Given the description of an element on the screen output the (x, y) to click on. 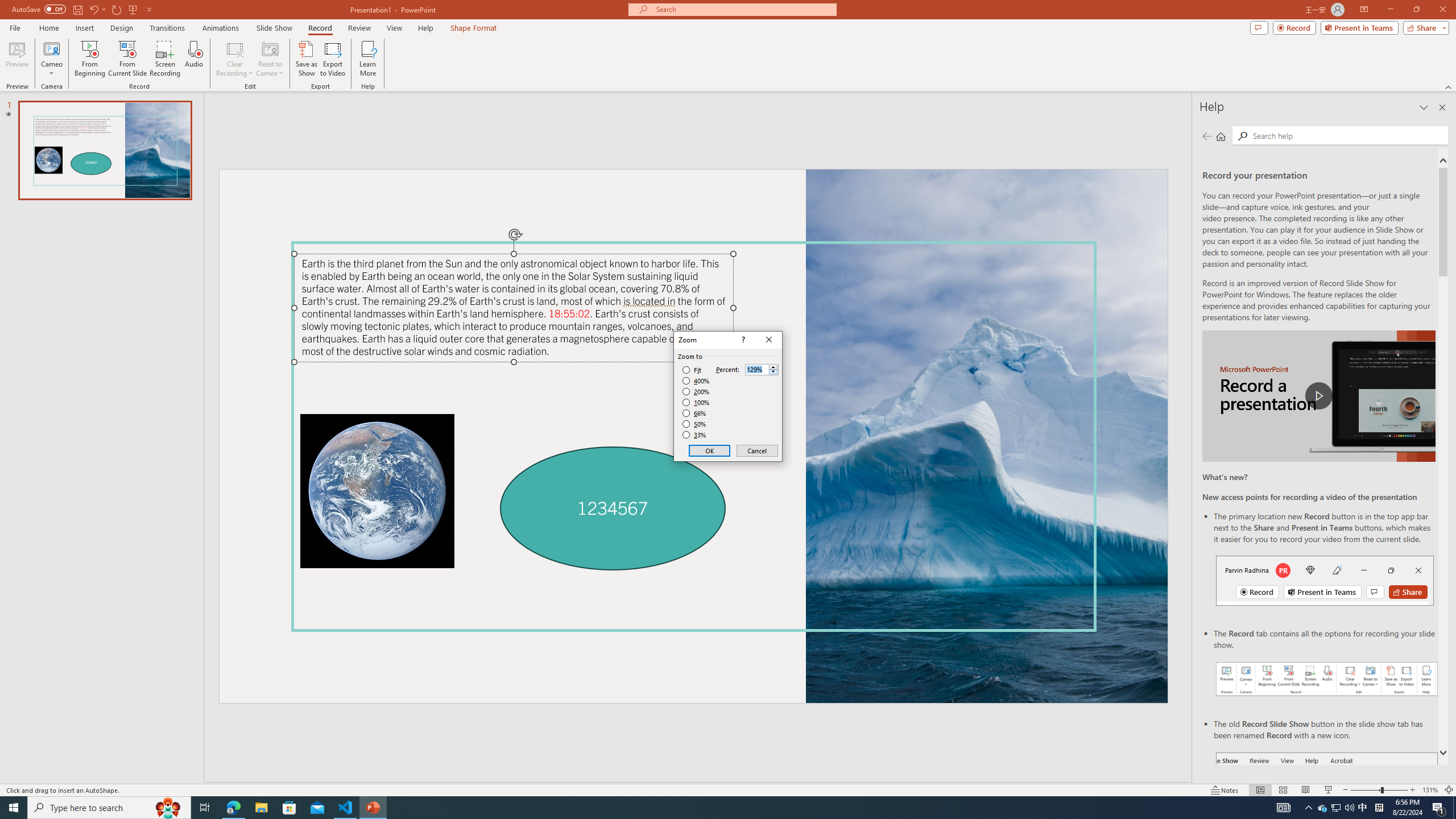
Percent (756, 369)
33% (694, 434)
Fit (691, 370)
Context help (742, 339)
